Given the description of an element on the screen output the (x, y) to click on. 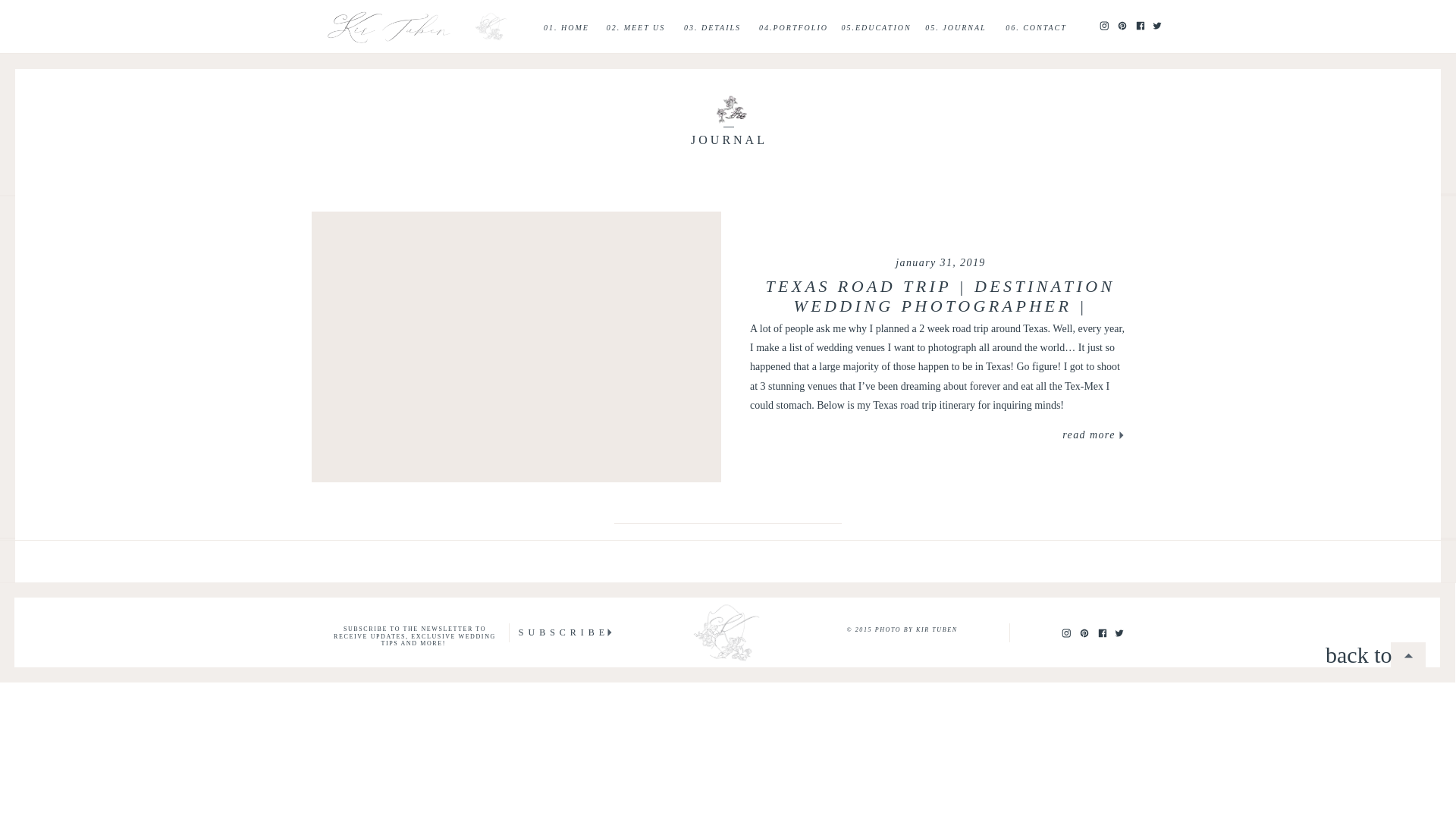
Facebook Copy-color Created with Sketch. (1101, 632)
Instagram-color Created with Sketch. (1065, 632)
Facebook Copy-color Created with Sketch. (1101, 633)
01. HOME (566, 27)
05. JOURNAL (955, 27)
Instagram-color Created with Sketch. (1103, 24)
Instagram-color Created with Sketch. (1103, 25)
read more (1088, 436)
Facebook Copy-color Created with Sketch. (1139, 24)
02. MEET US (635, 27)
06. CONTACT (1035, 27)
05.EDUCATION (876, 27)
Instagram-color Created with Sketch. (1065, 633)
Facebook Copy-color Created with Sketch. (1139, 25)
back to top (1363, 653)
